Given the description of an element on the screen output the (x, y) to click on. 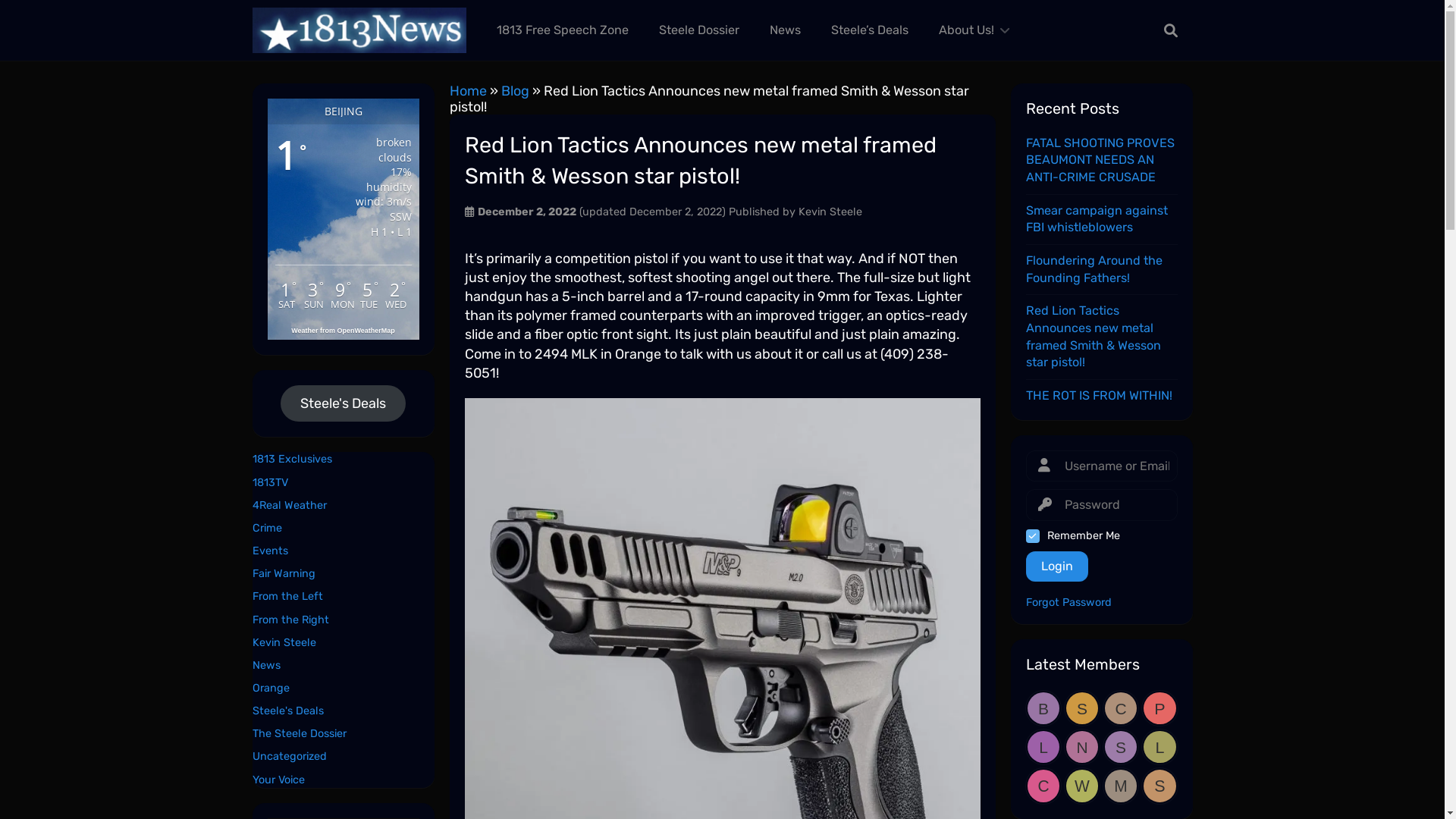
Steele's Deals Element type: text (342, 403)
About Us! Element type: text (969, 30)
Kevin Steele Element type: text (829, 211)
The Steele Dossier Element type: text (298, 733)
Steele Dossier Element type: text (698, 30)
Login Element type: text (1056, 565)
Floundering Around the Founding Fathers! Element type: text (1093, 269)
Uncategorized Element type: text (288, 755)
THE ROT IS FROM WITHIN! Element type: text (1098, 395)
December 2, 2022 (updated December 2, 2022) Element type: text (602, 211)
Steele's Deals Element type: text (287, 710)
Events Element type: text (269, 550)
FATAL SHOOTING PROVES BEAUMONT NEEDS AN ANTI-CRIME CRUSADE Element type: text (1099, 159)
1813 Free Speech Zone Element type: text (562, 30)
Kevin Steele Element type: text (283, 642)
News Element type: text (265, 664)
Home Element type: text (467, 90)
From the Left Element type: text (286, 595)
Blog Element type: text (514, 90)
1813TV Element type: text (269, 482)
From the Right Element type: text (289, 618)
Forgot Password Element type: text (1100, 602)
Smear campaign against FBI whistleblowers Element type: text (1096, 219)
Fair Warning Element type: text (282, 573)
Your Voice Element type: text (277, 779)
News Element type: text (784, 30)
Orange Element type: text (269, 687)
4Real Weather Element type: text (288, 504)
1813 Exclusives Element type: text (291, 458)
Crime Element type: text (266, 527)
